Given the description of an element on the screen output the (x, y) to click on. 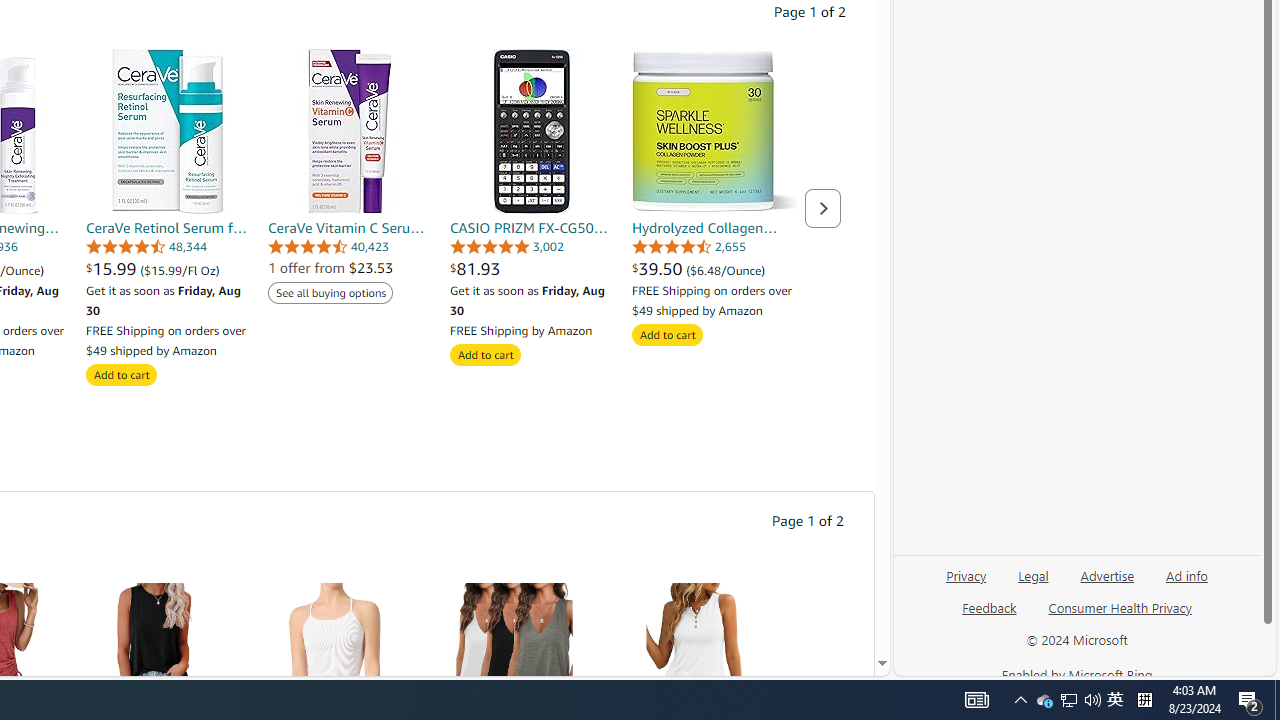
CASIO PRIZM FX-CG50 Color Graphing Calculator (532, 130)
Advertise (1106, 583)
Consumer Health Privacy (1119, 607)
Legal (1033, 574)
CASIO PRIZM FX-CG50 Color Graphing Calculator (532, 130)
